Given the description of an element on the screen output the (x, y) to click on. 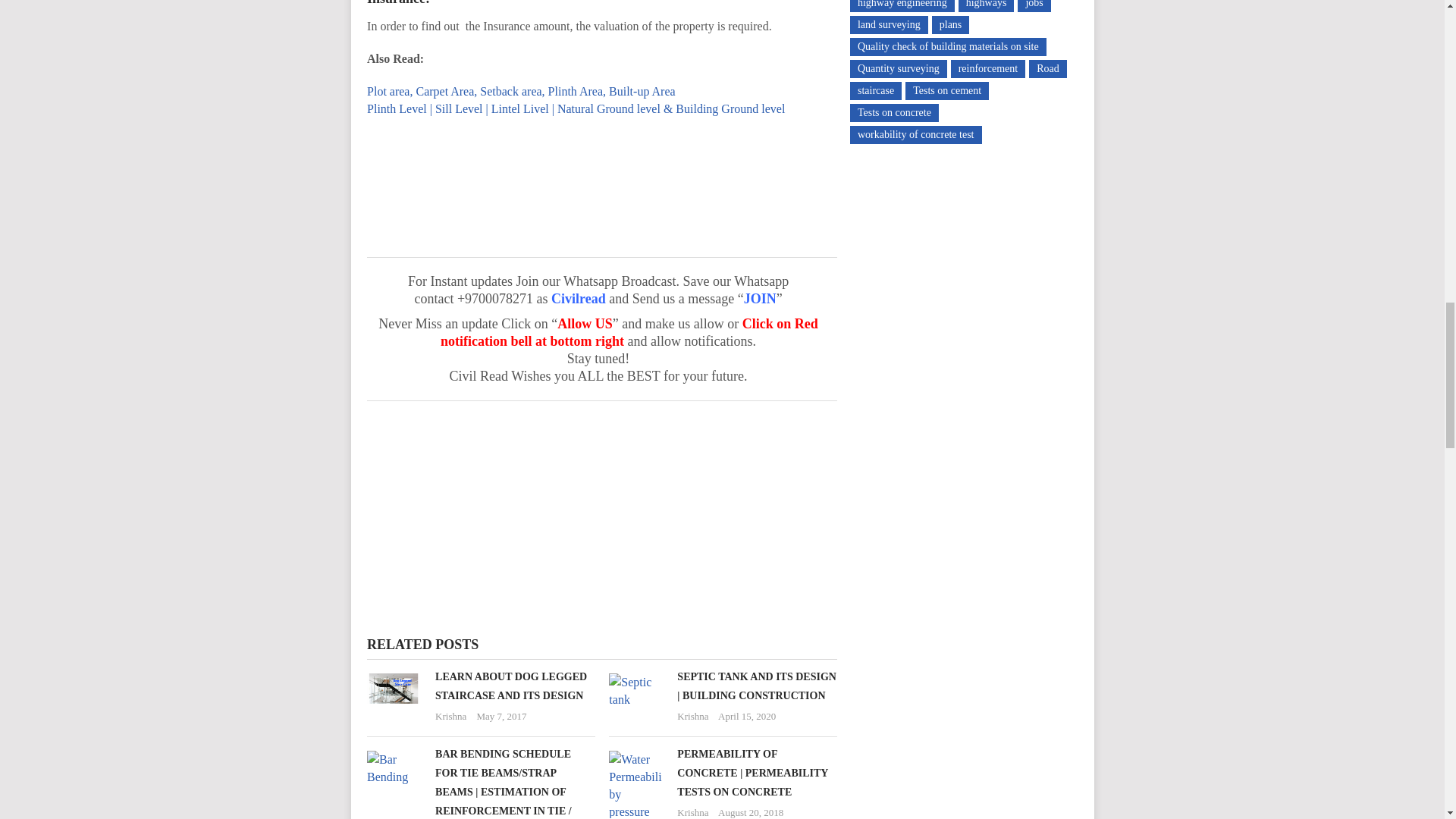
Posts by Krishna (450, 715)
Learn about Dog legged Staircase and its design (510, 685)
Posts by Krishna (692, 715)
